Given the description of an element on the screen output the (x, y) to click on. 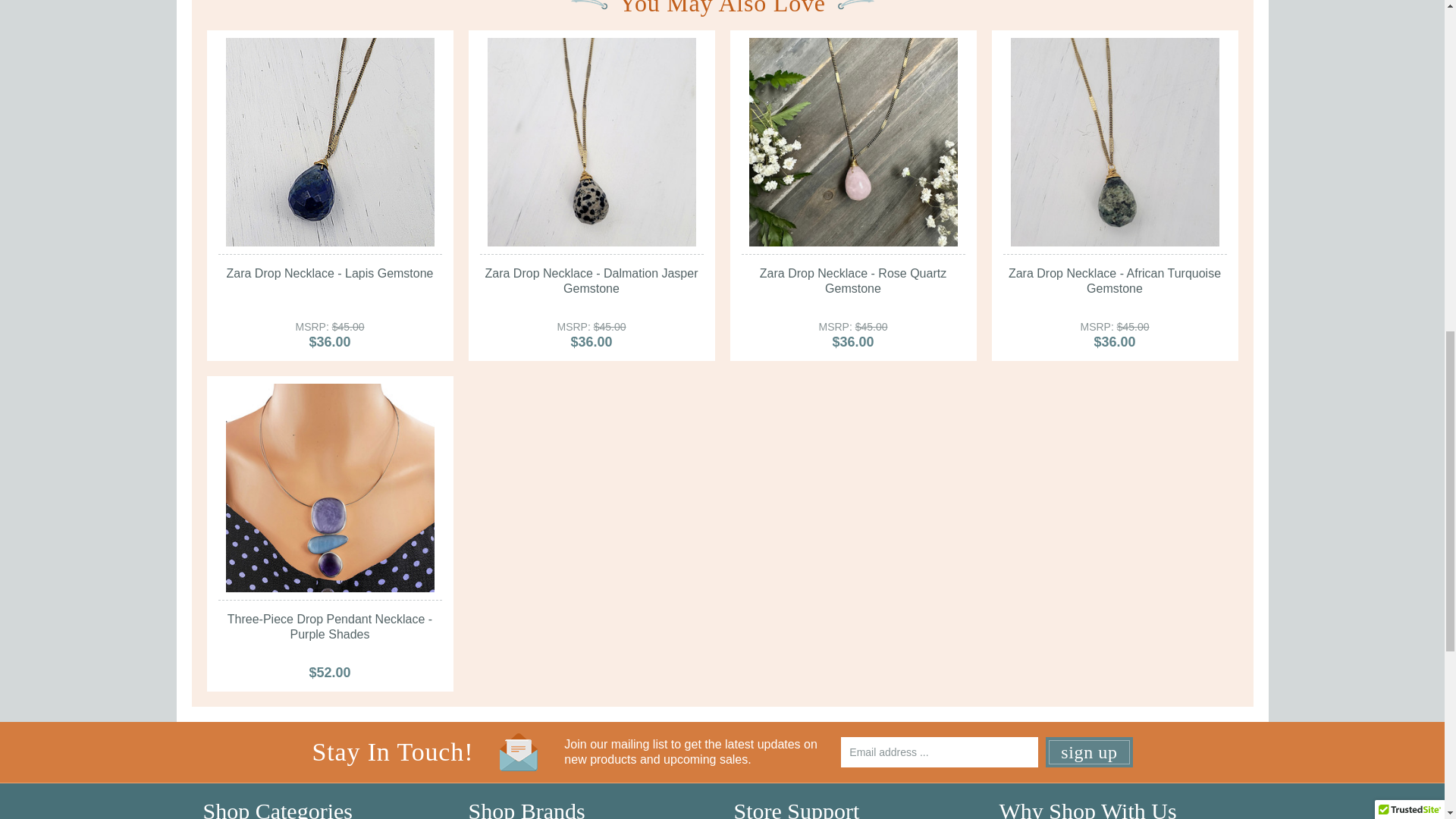
Three-Piece Drop Pendant Necklace - Purple Shades (329, 488)
Zara Drop Necklace - Lapis Gemstone (329, 141)
Zara Drop Necklace - African Turquoise Gemstone (1114, 141)
Zara Drop Necklace - Rose Quartz Gemstone (853, 141)
Zara Drop Necklace - Dalmation Jasper Gemstone (590, 141)
Sign Up (1088, 752)
